Given the description of an element on the screen output the (x, y) to click on. 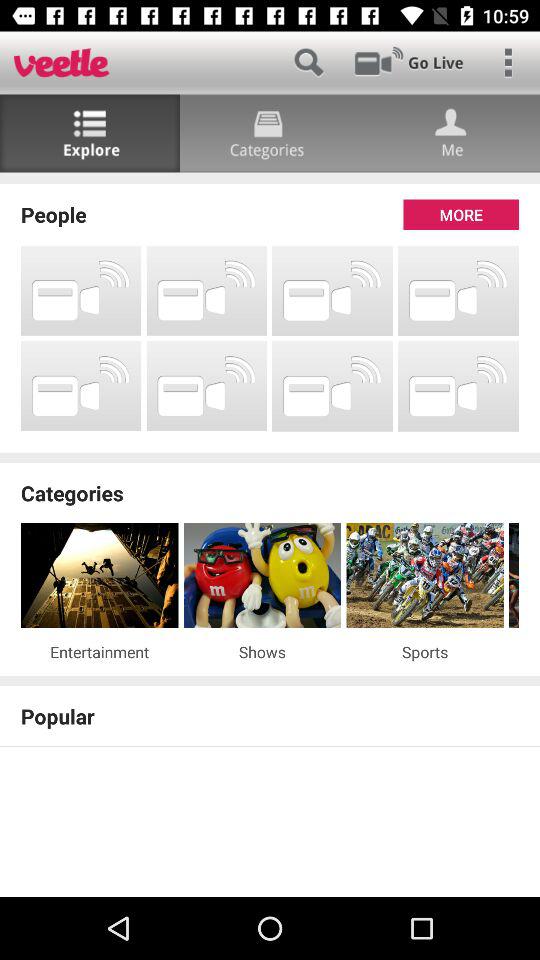
click the item below the categories item (425, 575)
